Given the description of an element on the screen output the (x, y) to click on. 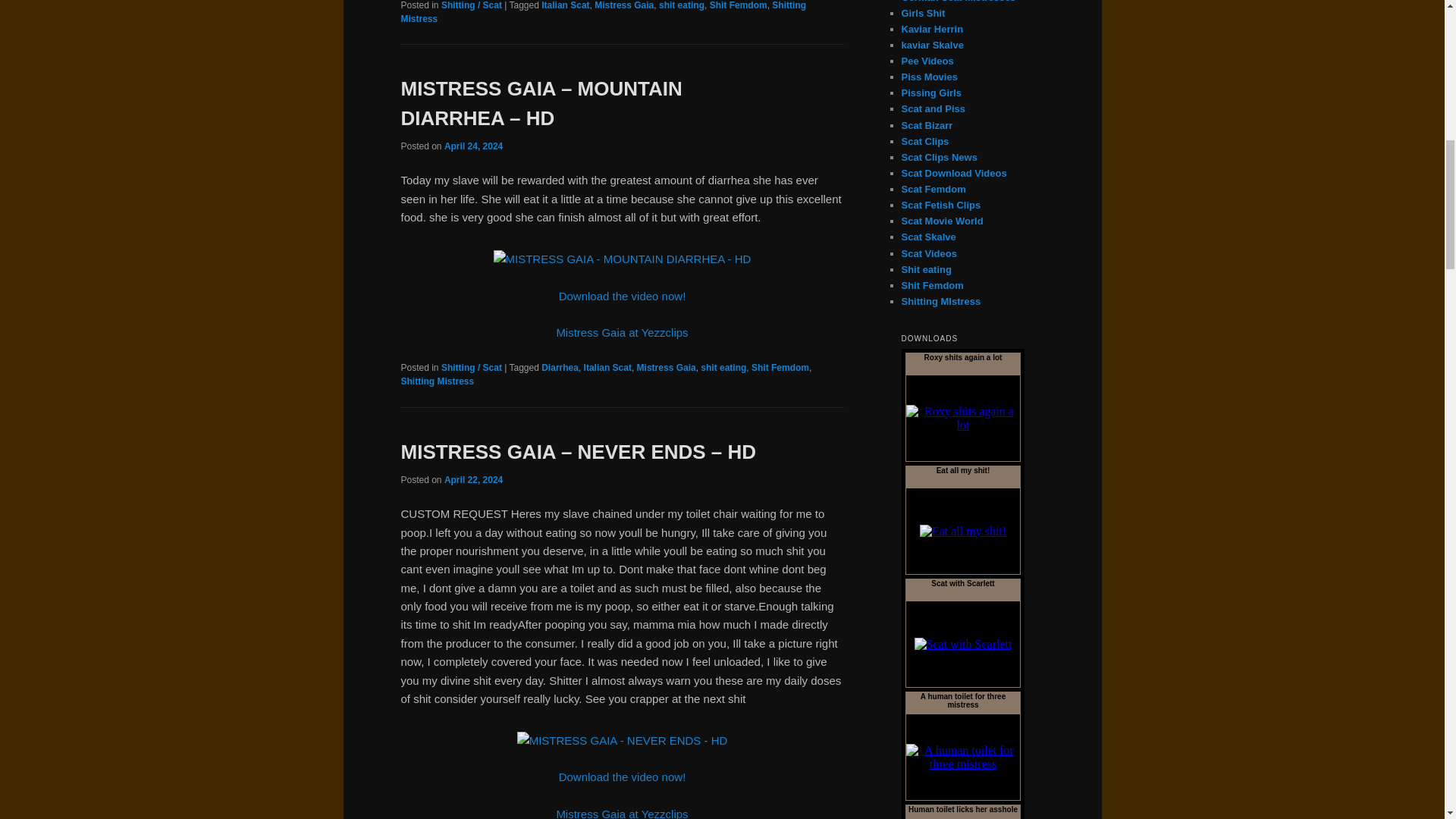
Italian Scat (565, 5)
5:13 am (473, 480)
Mistress Gaia (623, 5)
Mistress Gaia (666, 367)
Download the video now! (622, 295)
Shitting Mistress (602, 12)
April 24, 2024 (473, 145)
Mistress Gaia at Yezzclips (621, 813)
Download the video now! (622, 776)
shit eating (722, 367)
